Given the description of an element on the screen output the (x, y) to click on. 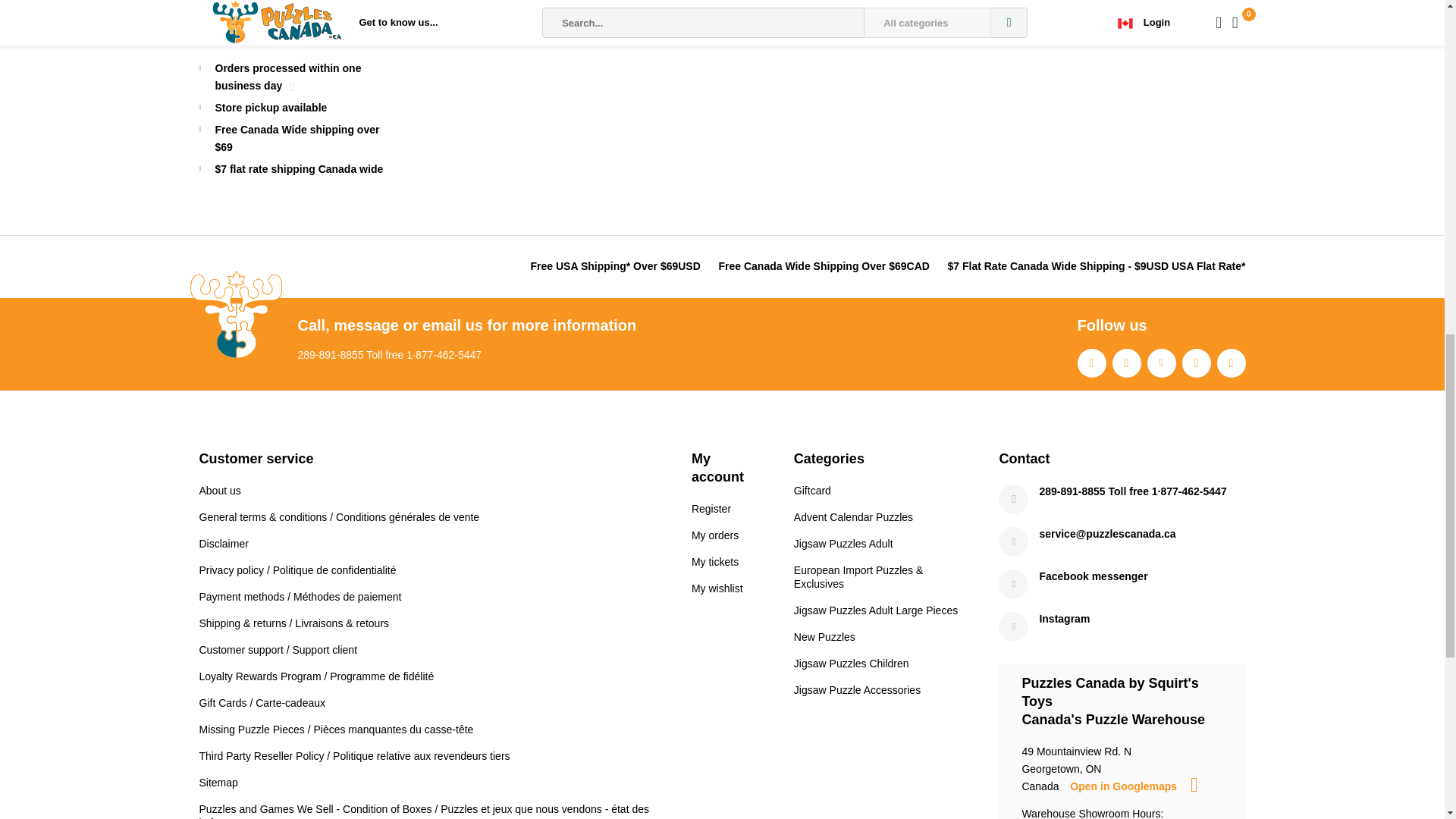
About us (219, 490)
Register (710, 508)
My orders (714, 535)
My tickets (714, 562)
My wishlist (716, 588)
Disclaimer (222, 543)
Sitemap (217, 782)
